Given the description of an element on the screen output the (x, y) to click on. 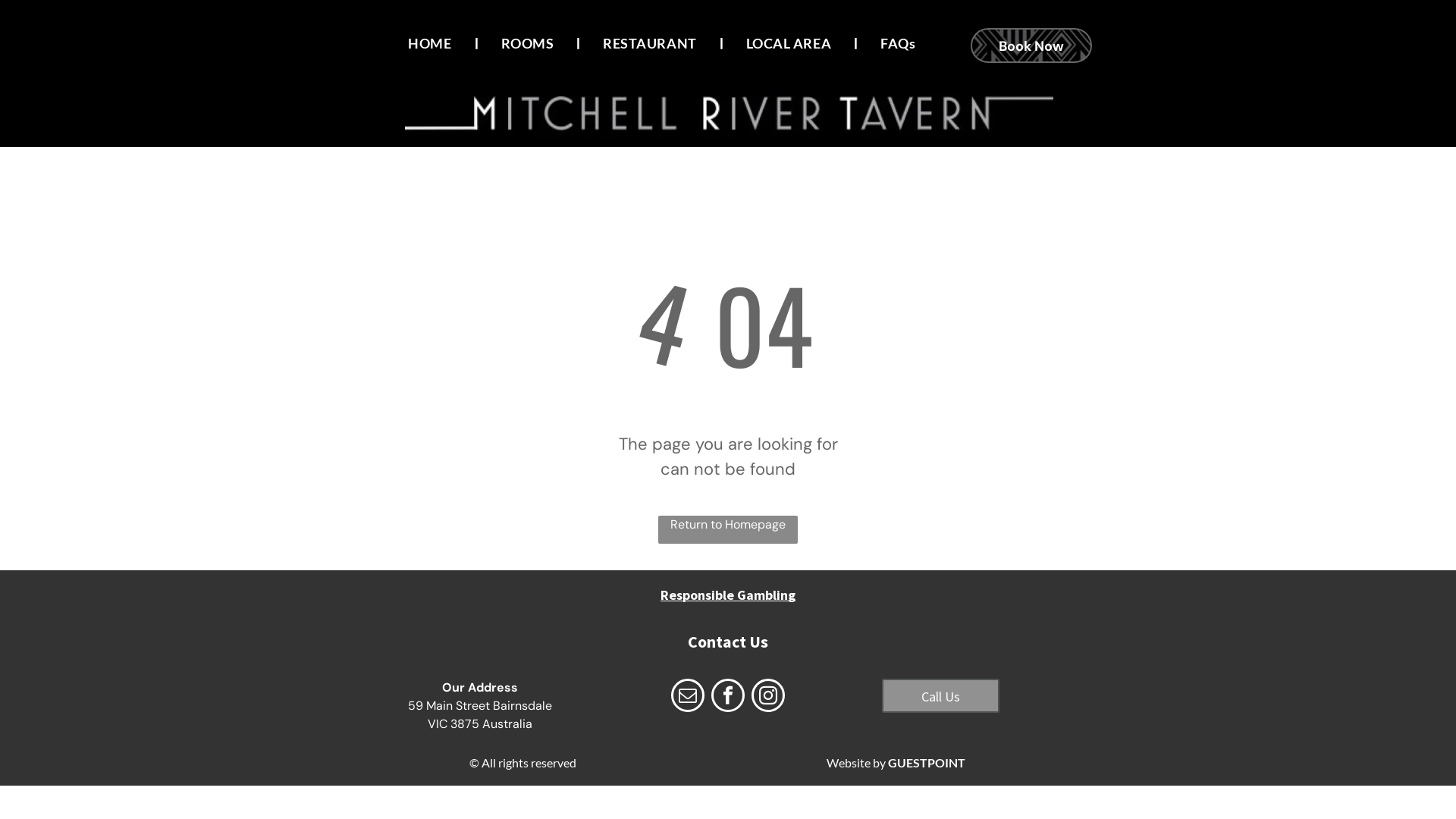
Return to Homepage Element type: text (727, 529)
LOCAL AREA Element type: text (788, 42)
HOME Element type: text (429, 42)
Responsible Gambling Element type: text (727, 594)
Book Now Element type: text (1031, 45)
RESTAURANT Element type: text (649, 42)
FAQs Element type: text (897, 42)
ROOMS Element type: text (527, 42)
Call Us Element type: text (940, 695)
